Given the description of an element on the screen output the (x, y) to click on. 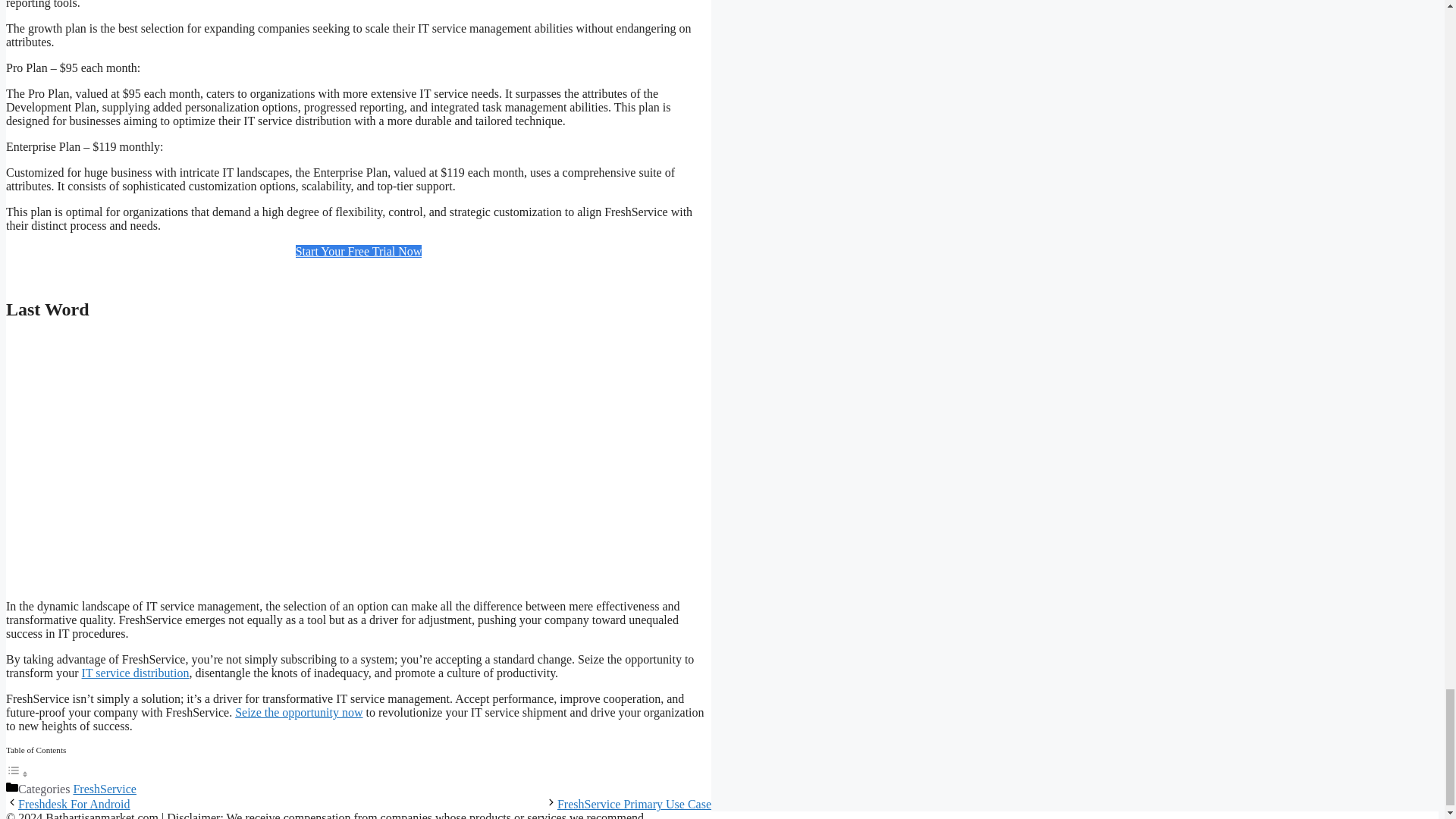
IT service distribution (135, 672)
Start Your Free Trial Now (358, 250)
Seize the opportunity now (298, 712)
FreshService Primary Use Case (634, 803)
Freshdesk For Android (74, 803)
FreshService (104, 788)
